Given the description of an element on the screen output the (x, y) to click on. 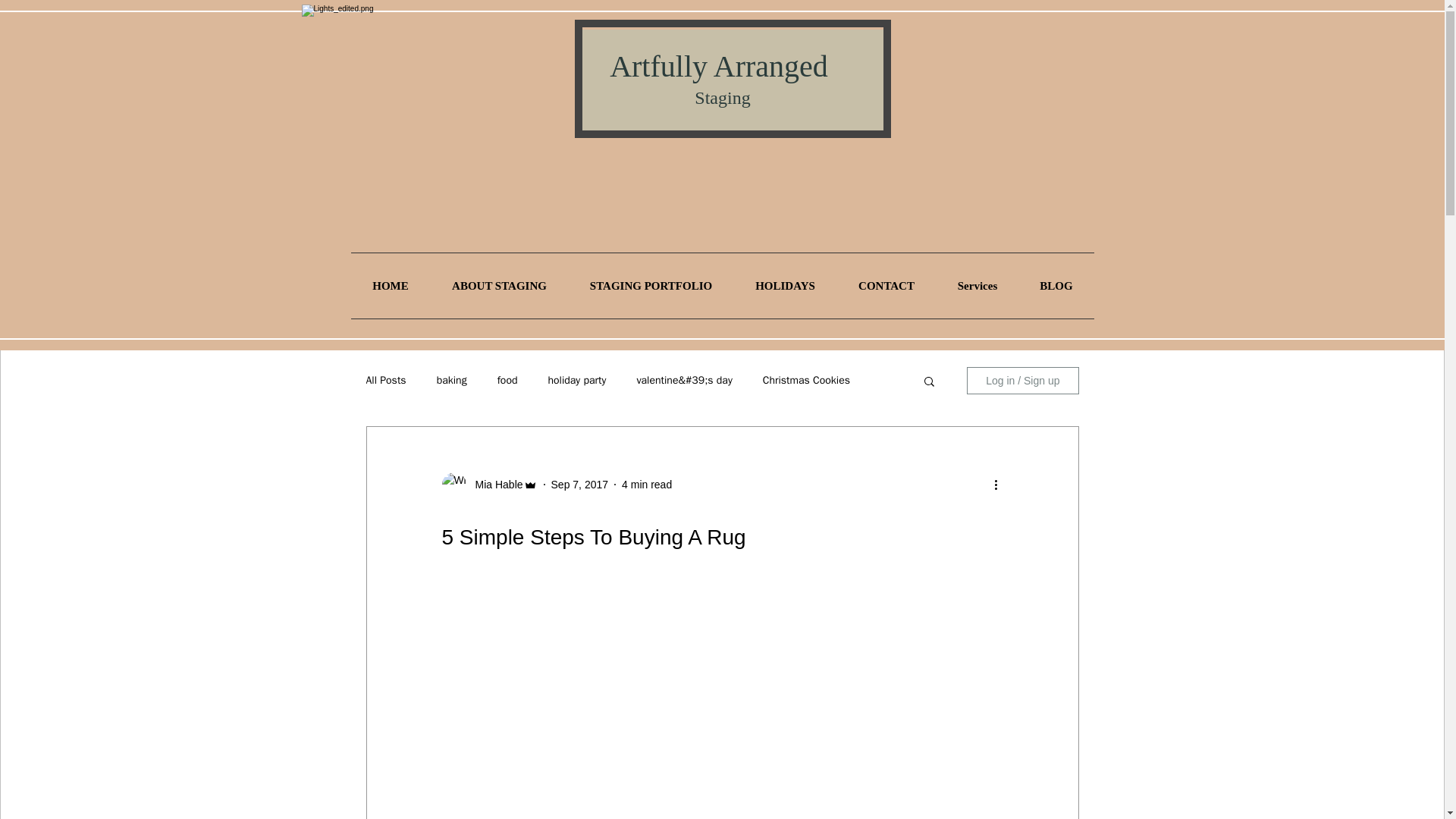
HOME (389, 285)
STAGING PORTFOLIO (651, 285)
CONTACT (886, 285)
Christmas Cookies (806, 380)
4 min read (646, 483)
ABOUT STAGING (499, 285)
Services (976, 285)
Mia Hable (493, 483)
holiday party (576, 380)
HOLIDAYS (785, 285)
food (507, 380)
Artfully Arranged  (722, 66)
baking (451, 380)
Sep 7, 2017 (579, 483)
All Posts (385, 380)
